Given the description of an element on the screen output the (x, y) to click on. 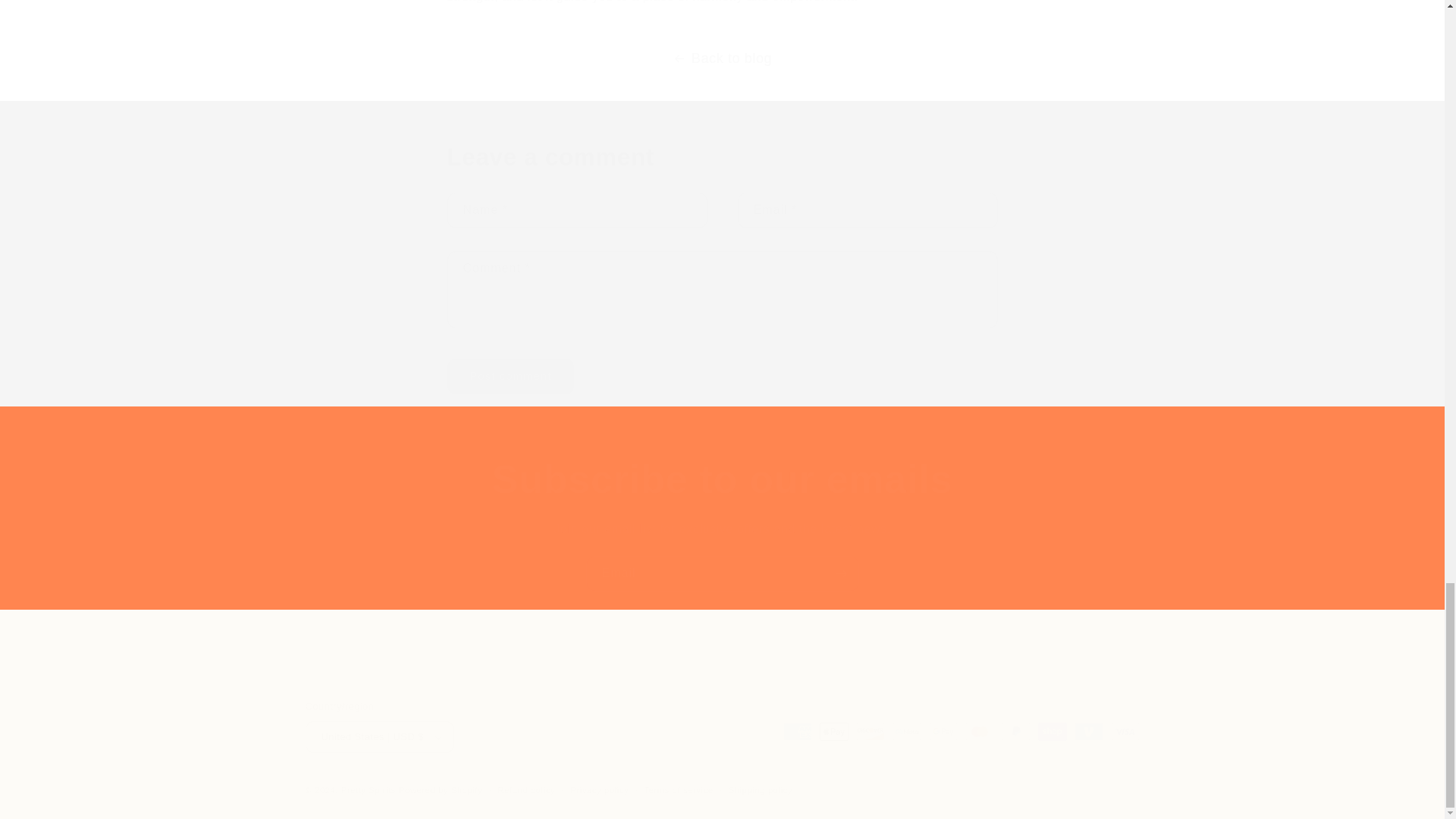
Post comment (510, 375)
Subscribe to our emails (721, 479)
Email (722, 573)
